Given the description of an element on the screen output the (x, y) to click on. 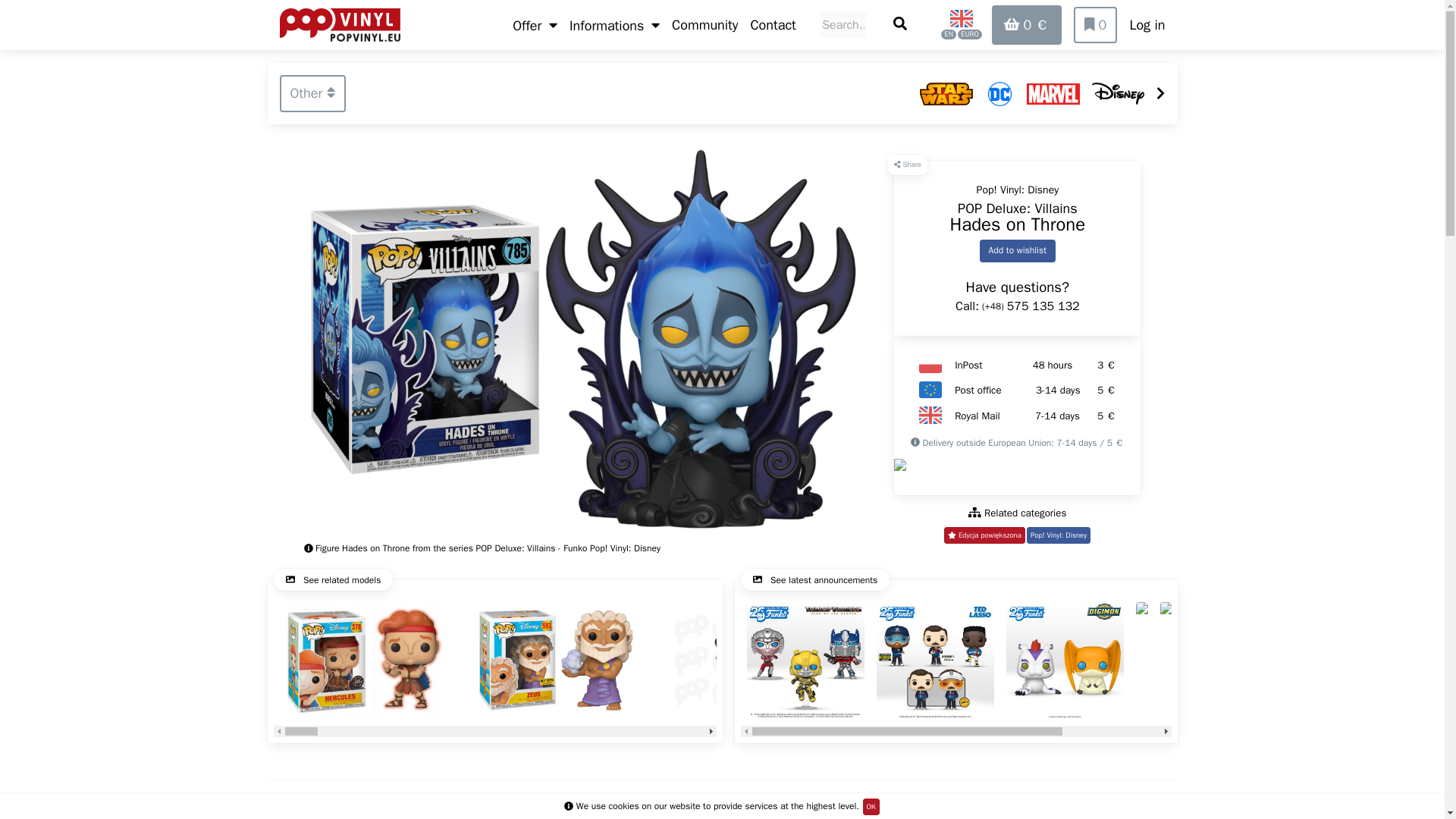
See latest announcements (814, 579)
575 135 132 (1043, 305)
Other (312, 93)
Community (704, 25)
Pop! Vinyl: Disney (494, 666)
Add to wishlist (1058, 535)
Contact (1017, 250)
See related models (771, 25)
0 (333, 579)
